Given the description of an element on the screen output the (x, y) to click on. 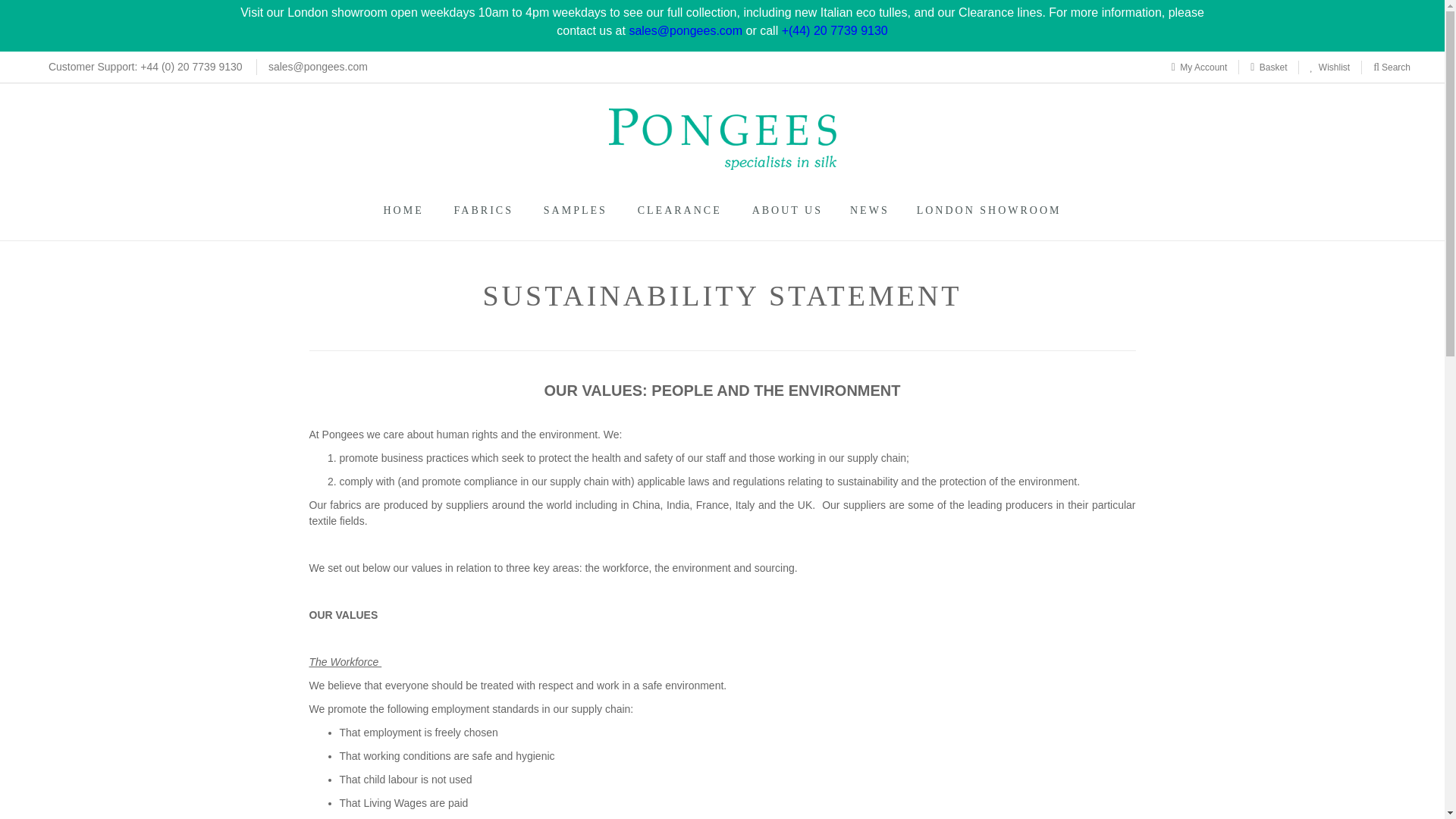
  Wishlist (1330, 67)
Wishlist (1330, 67)
Basket (1267, 66)
Pongees (721, 138)
  My Account (1199, 67)
